Given the description of an element on the screen output the (x, y) to click on. 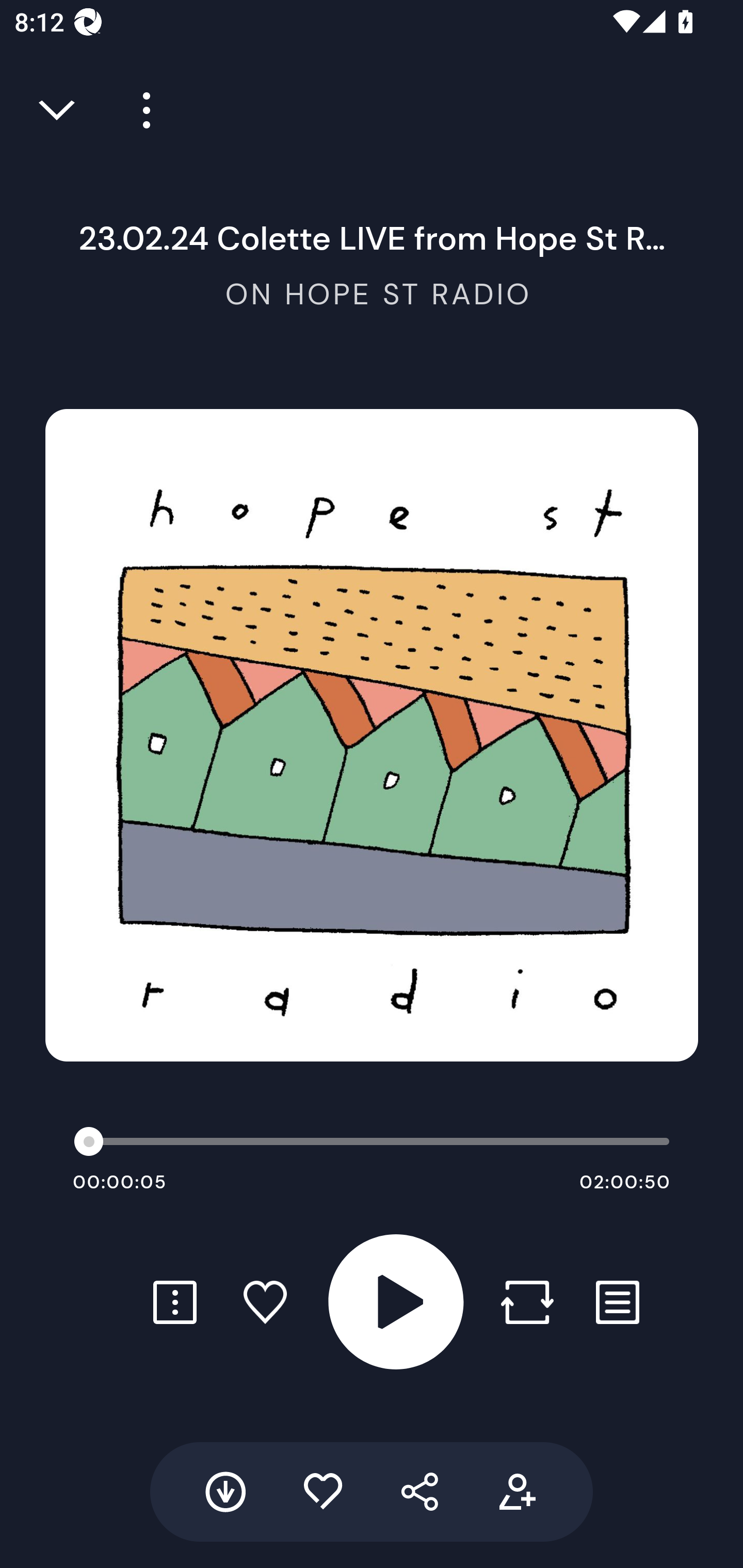
Close full player (58, 110)
Player more options button (139, 110)
Repost button (527, 1301)
